Given the description of an element on the screen output the (x, y) to click on. 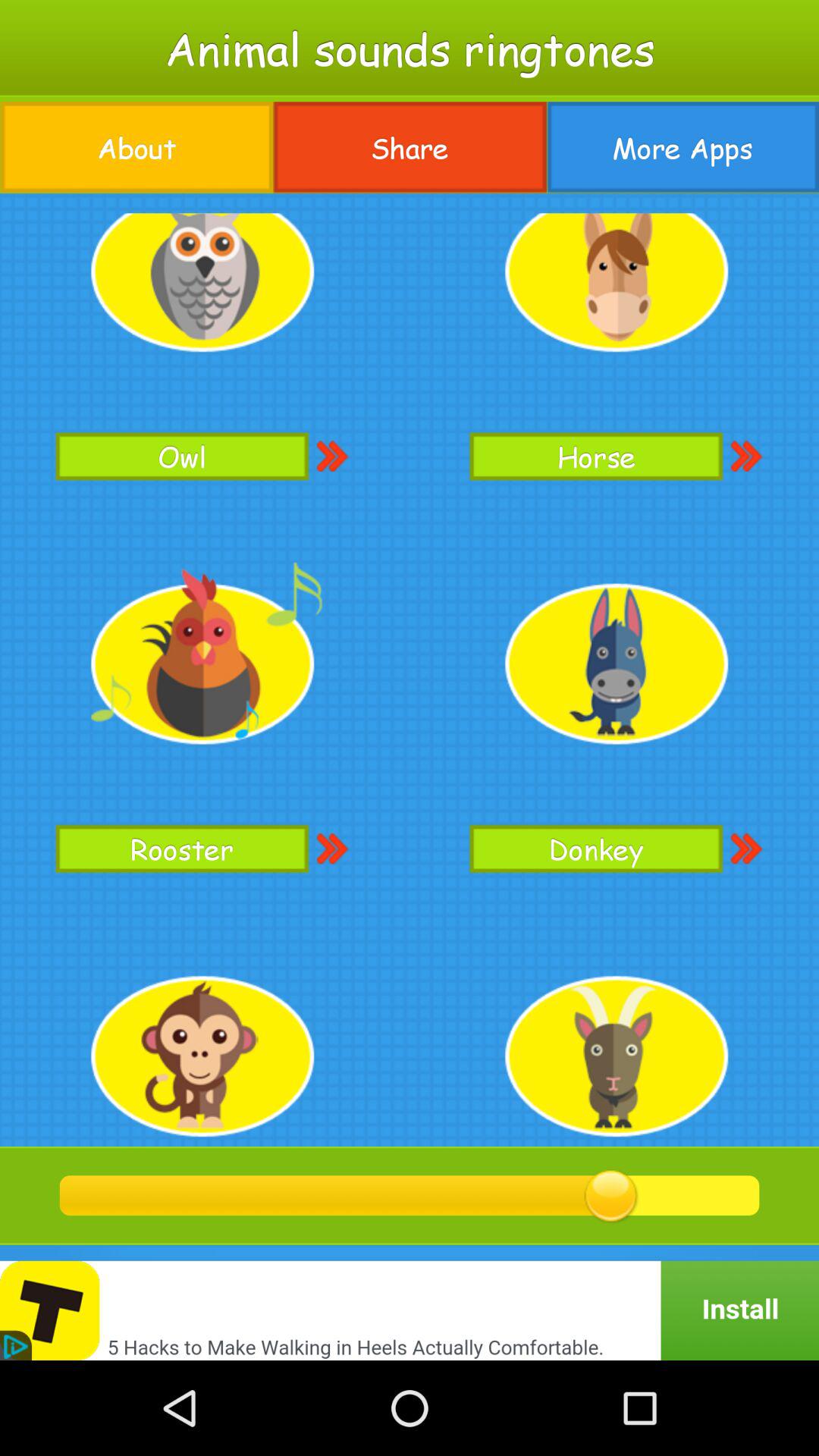
press item next to the share (136, 147)
